Given the description of an element on the screen output the (x, y) to click on. 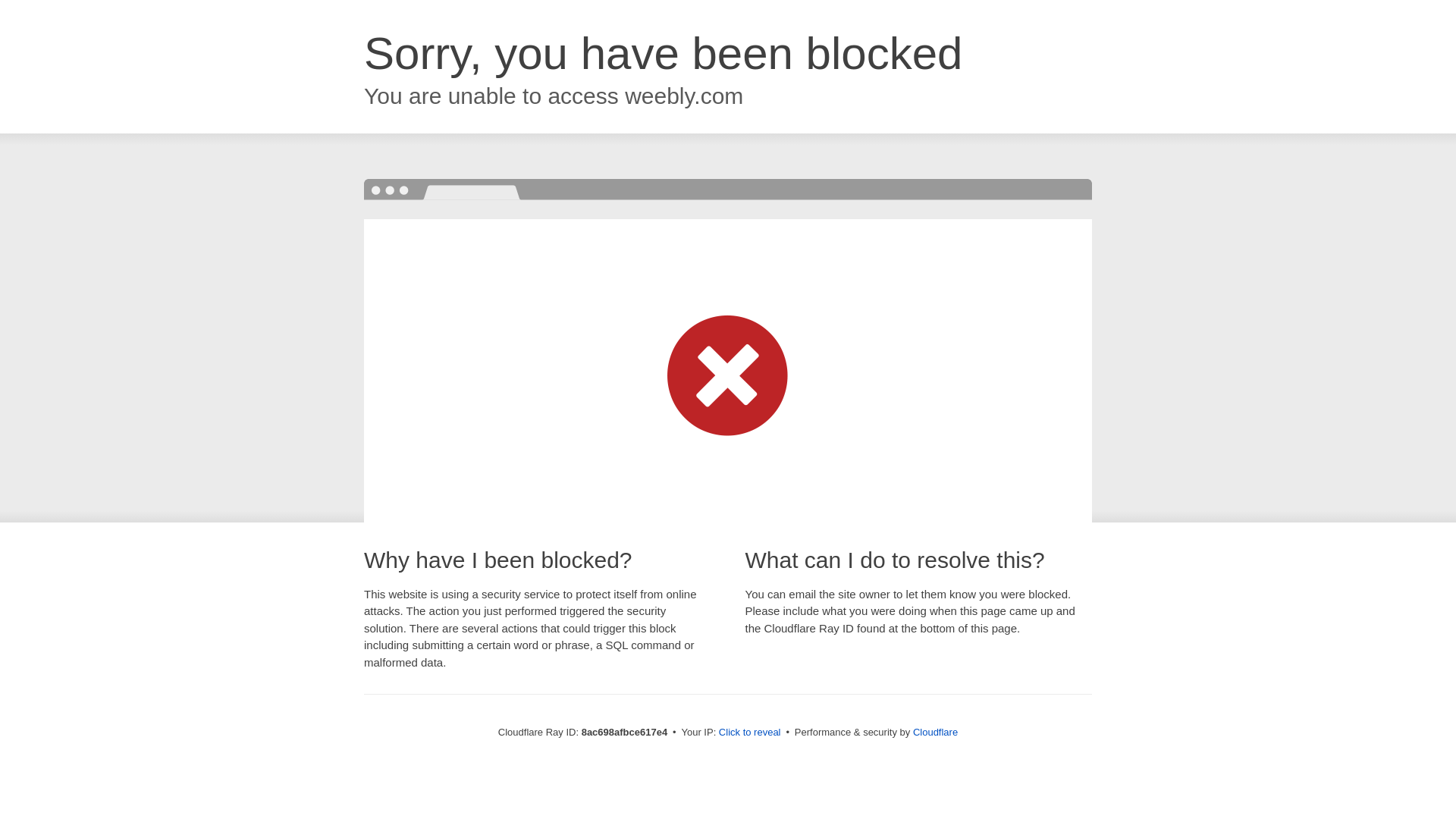
Cloudflare (935, 731)
Click to reveal (749, 732)
